Given the description of an element on the screen output the (x, y) to click on. 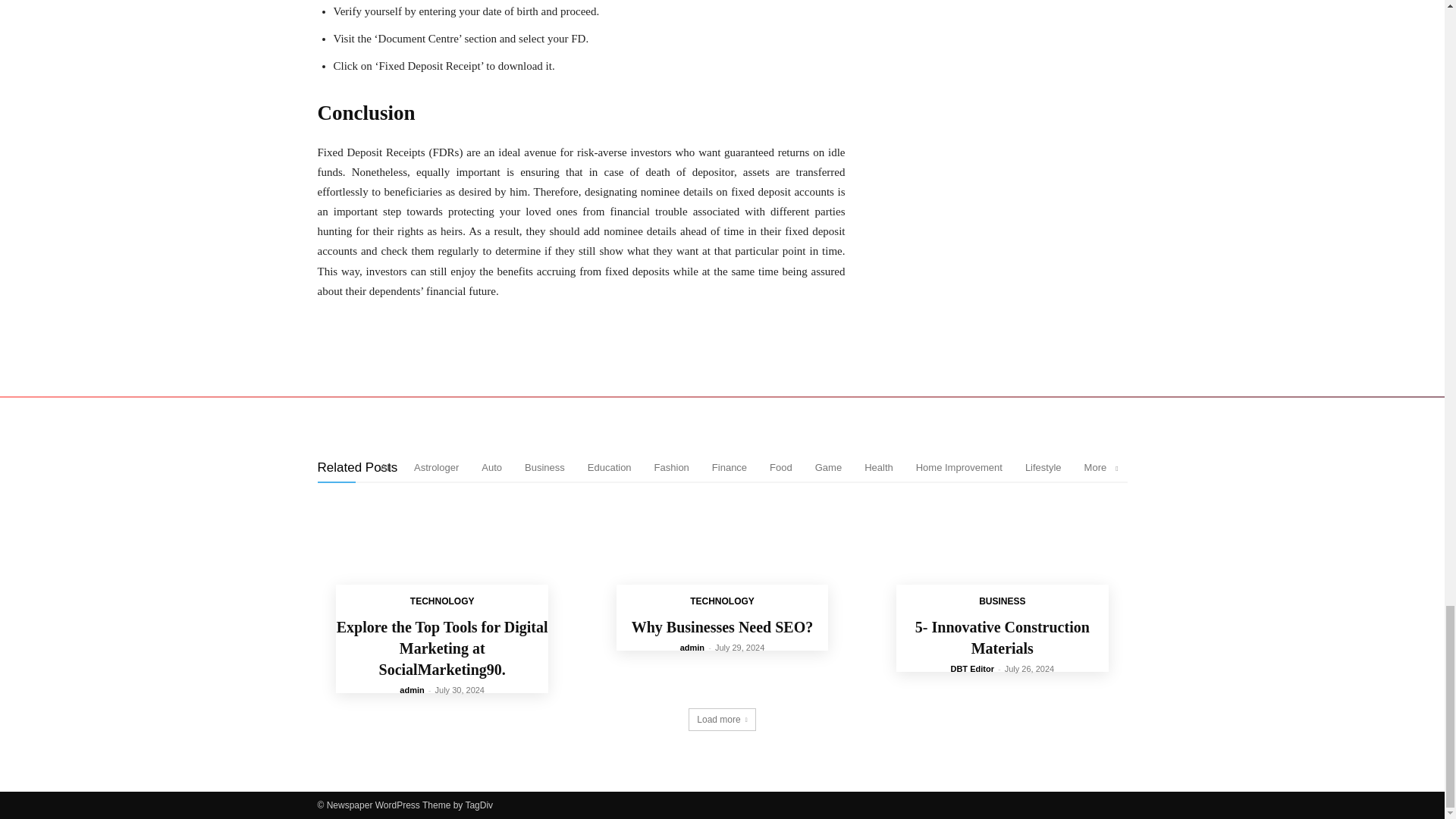
Finance (728, 467)
Education (609, 467)
Auto (491, 467)
Astrologer (435, 467)
Business (544, 467)
Why Businesses Need SEO? (721, 560)
Why Businesses Need SEO? (722, 627)
Fashion (670, 467)
5- Innovative Construction Materials (1002, 637)
5- Innovative Construction Materials (1001, 560)
All (385, 467)
